Given the description of an element on the screen output the (x, y) to click on. 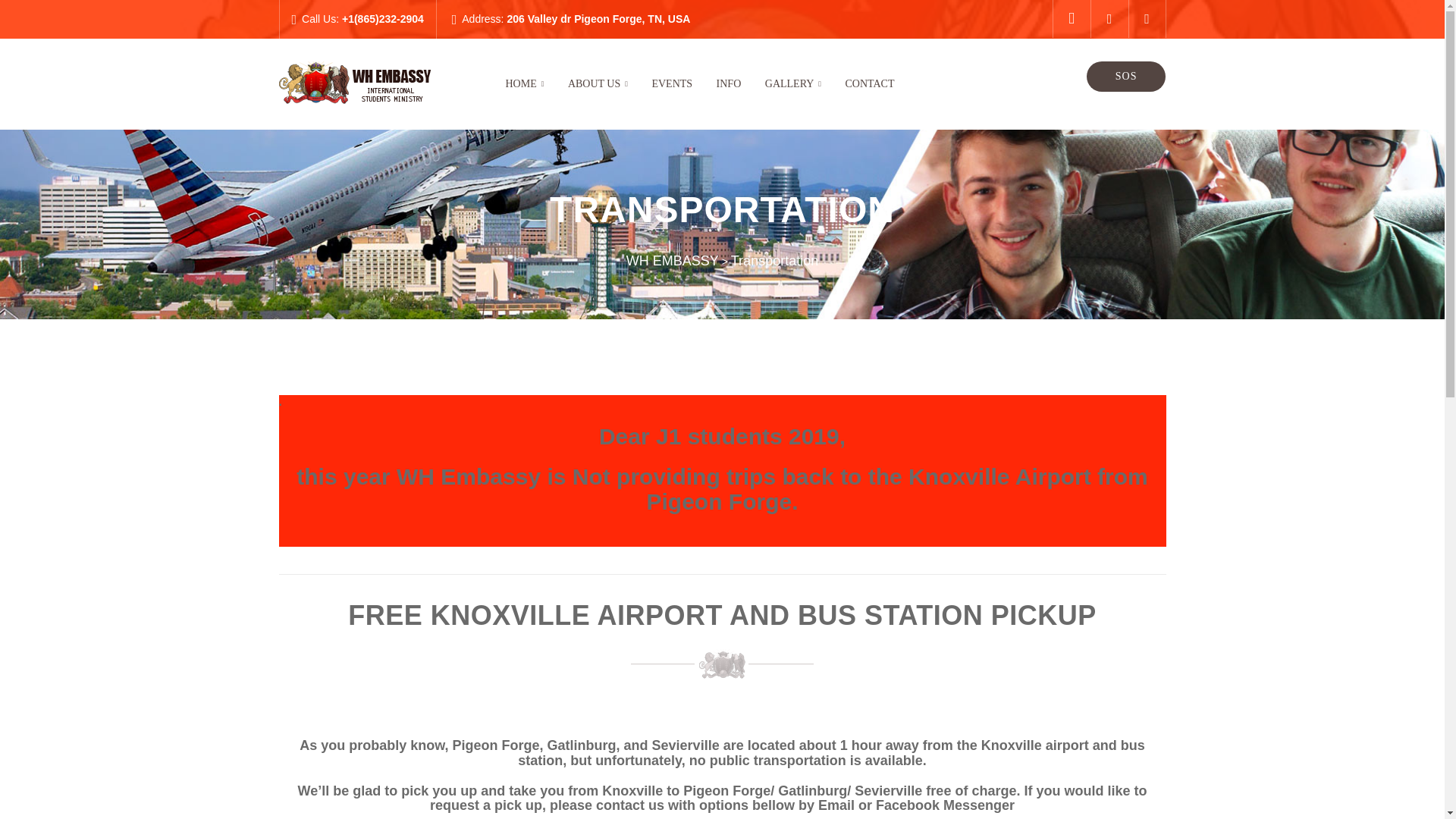
SOS (1126, 76)
WH EMBASSY (672, 260)
HOME (524, 83)
Tumblr (1147, 18)
ABOUT US (597, 83)
Go to WH EMBASSY. (672, 260)
CONTACT (868, 83)
Facebook (1109, 18)
EVENTS (671, 83)
GALLERY (793, 83)
